Given the description of an element on the screen output the (x, y) to click on. 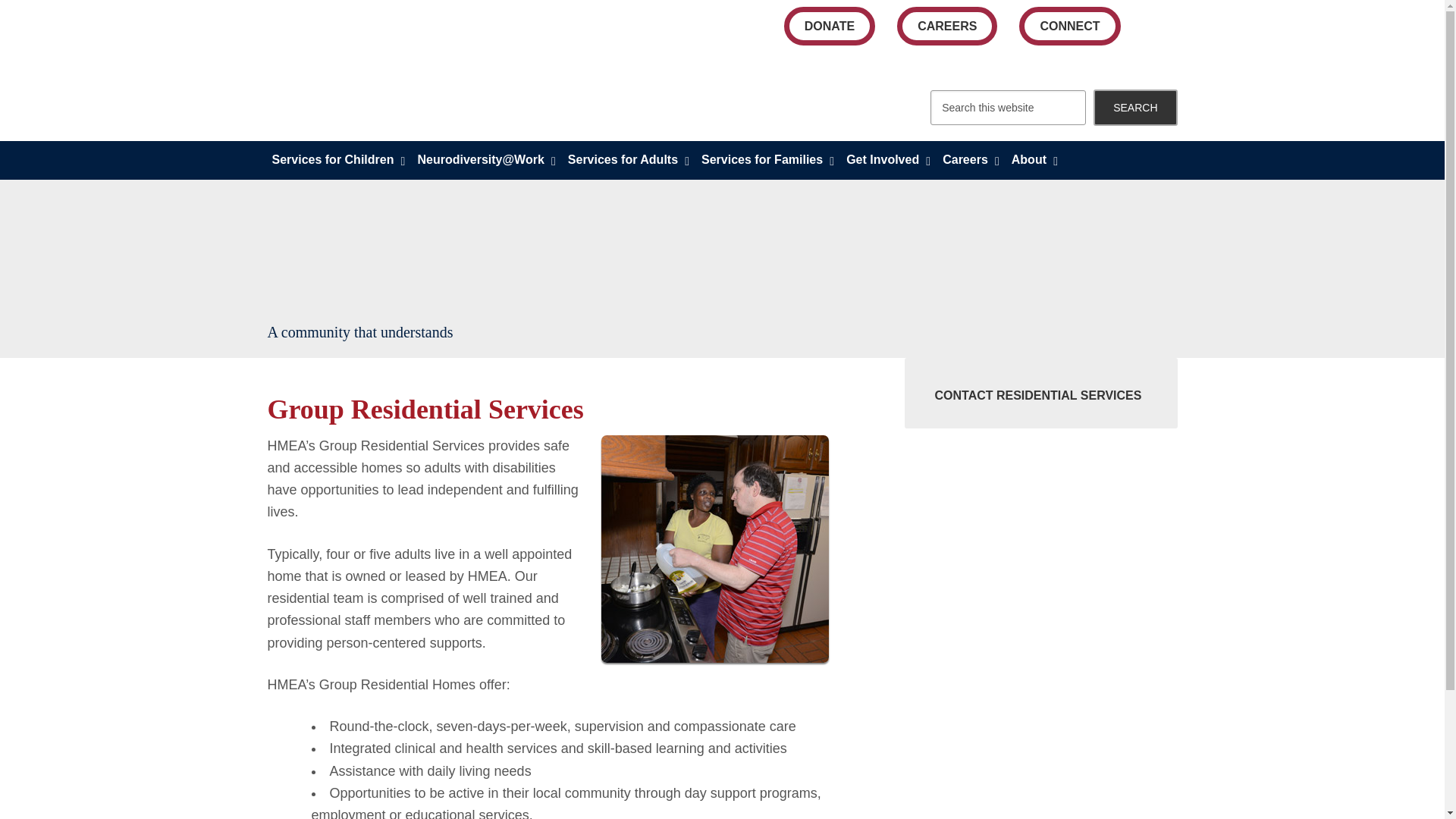
Search (1134, 107)
CONNECT (1069, 25)
Search (1134, 107)
Services for Families (769, 159)
DONATE (829, 25)
CAREERS (946, 25)
Services for Adults (630, 159)
Search (1134, 107)
Get Involved (889, 159)
Services for Children (339, 159)
